Given the description of an element on the screen output the (x, y) to click on. 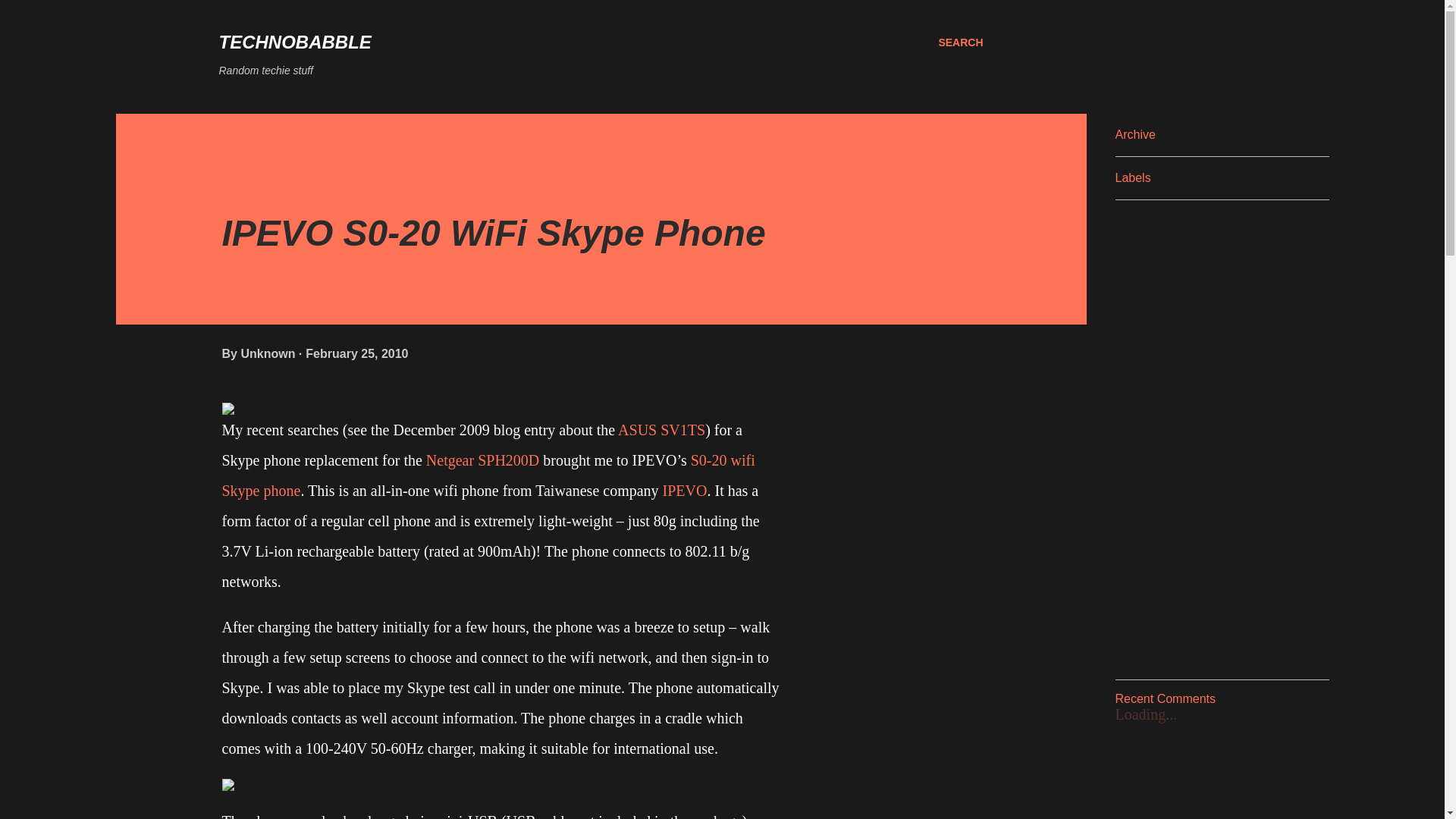
S0-20 wifi Skype phone (487, 475)
permanent link (356, 353)
IPEVO (684, 490)
SEARCH (959, 42)
TECHNOBABBLE (294, 41)
ASUS SV1TS (660, 429)
February 25, 2010 (356, 353)
Unknown (269, 353)
Netgear SPH200D (482, 460)
author profile (269, 353)
